Given the description of an element on the screen output the (x, y) to click on. 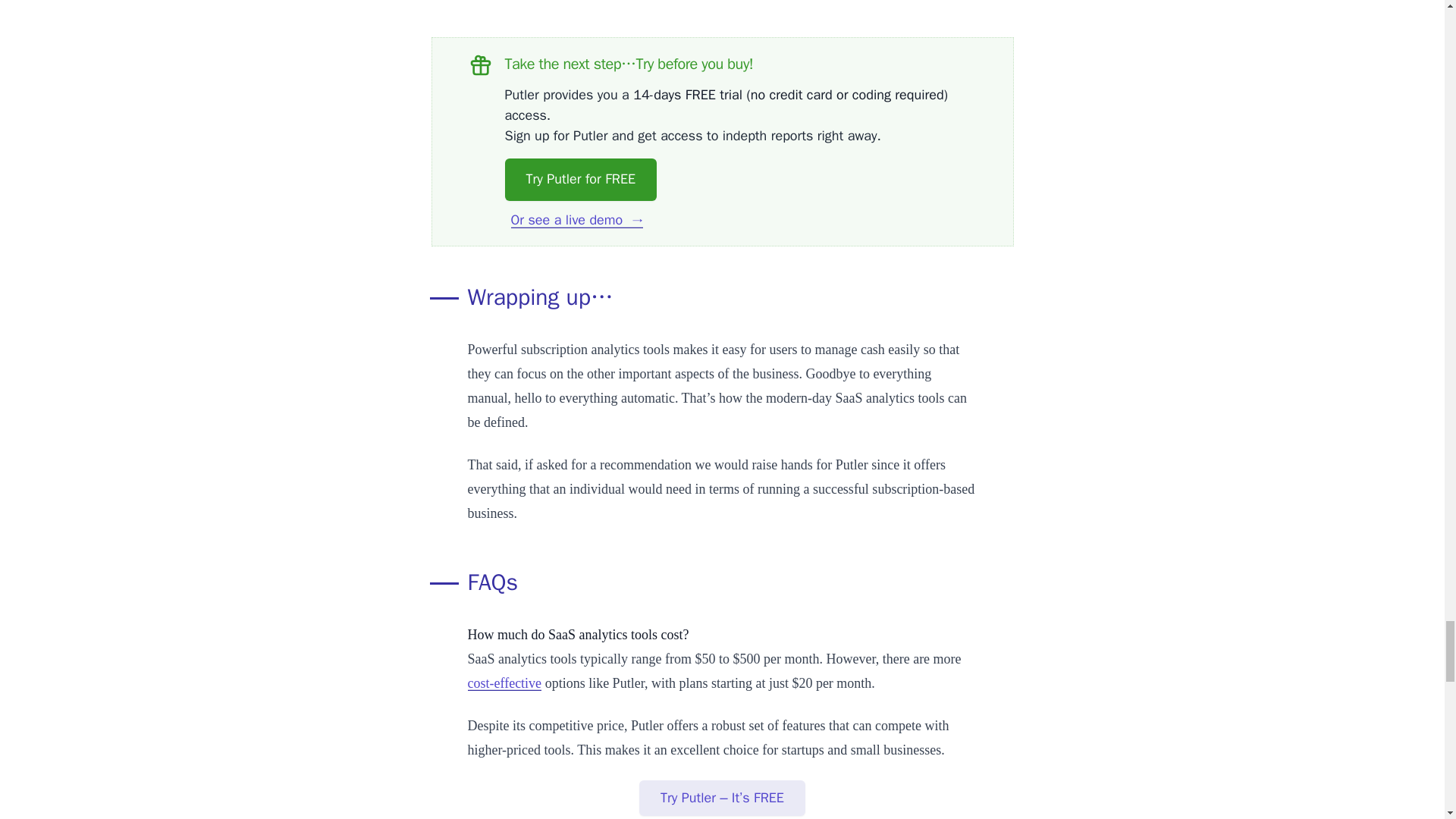
cost-effective (504, 683)
Try Putler for FREE (581, 179)
Or see a live demo (577, 219)
